Given the description of an element on the screen output the (x, y) to click on. 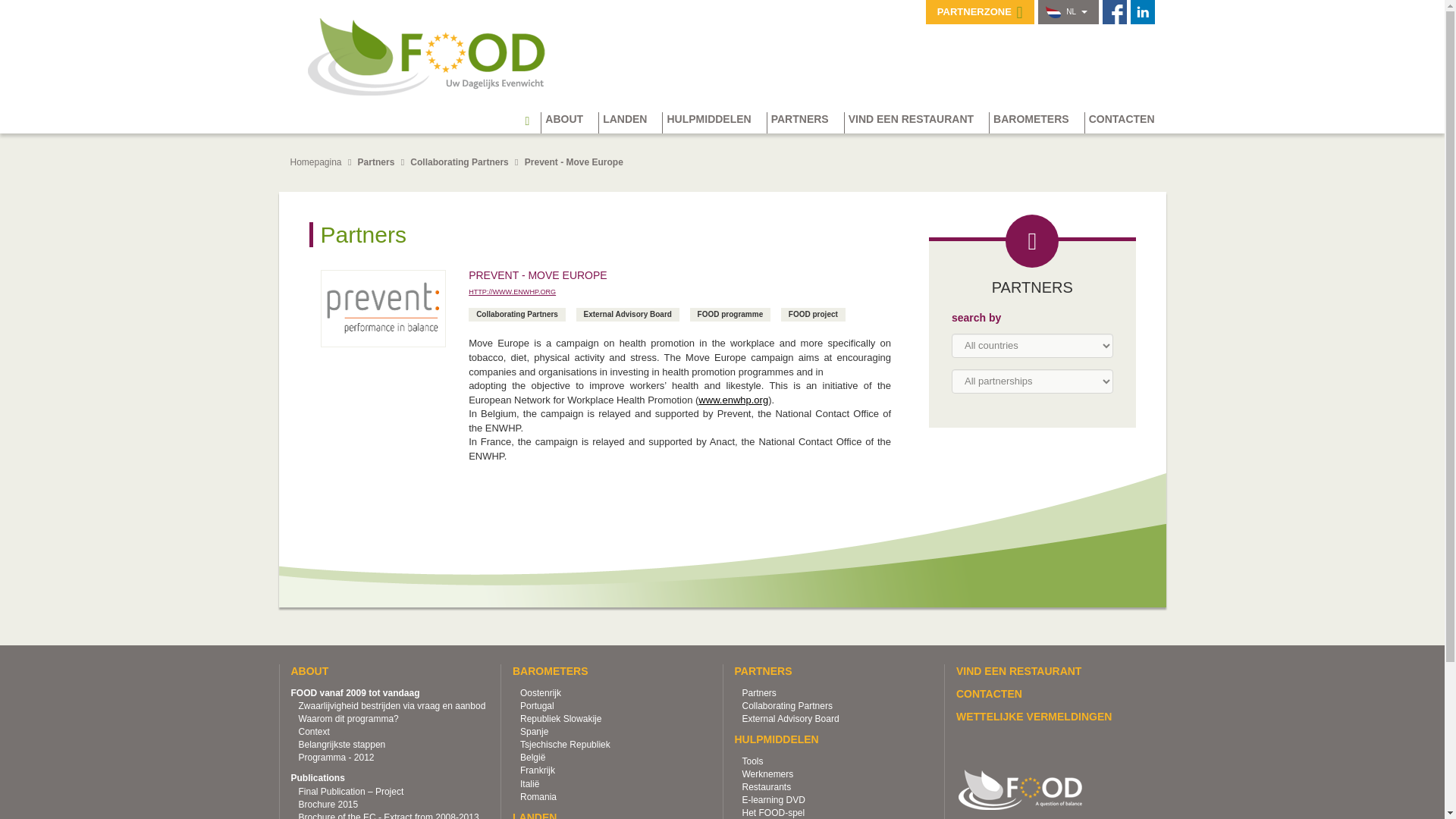
NL (1066, 12)
Partnerzone (979, 12)
LANDEN (630, 122)
ABOUT (569, 122)
PARTNERZONE (979, 12)
Homepagina (532, 119)
Kies uw taal (1066, 12)
